Given the description of an element on the screen output the (x, y) to click on. 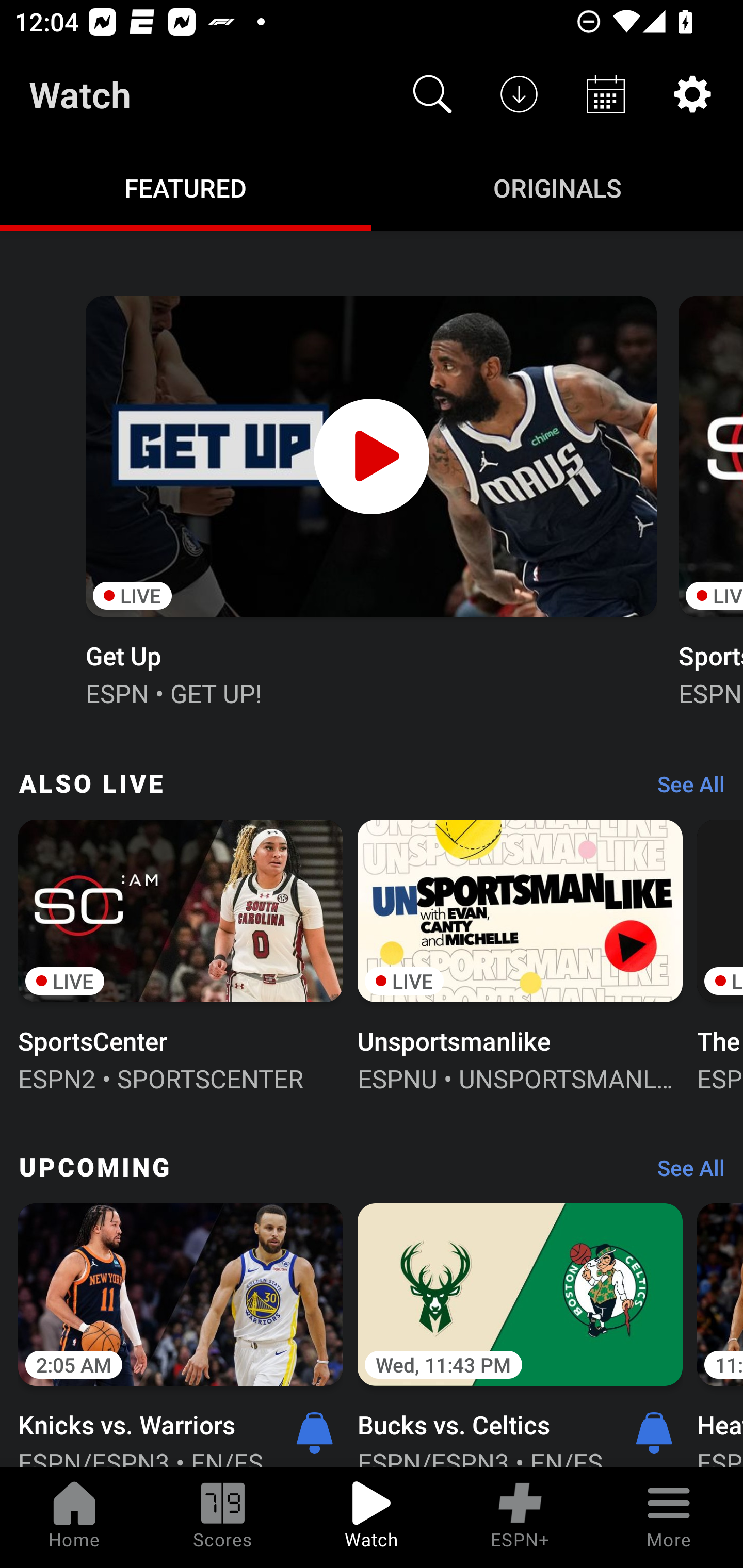
Search (432, 93)
Downloads (518, 93)
Schedule (605, 93)
Settings (692, 93)
Originals ORIGINALS (557, 187)
 LIVE Get Up ESPN • GET UP! (370, 499)
See All (683, 788)
LIVE SportsCenter ESPN2 • SPORTSCENTER (180, 954)
See All (683, 1172)
Home (74, 1517)
Scores (222, 1517)
ESPN+ (519, 1517)
More (668, 1517)
